Given the description of an element on the screen output the (x, y) to click on. 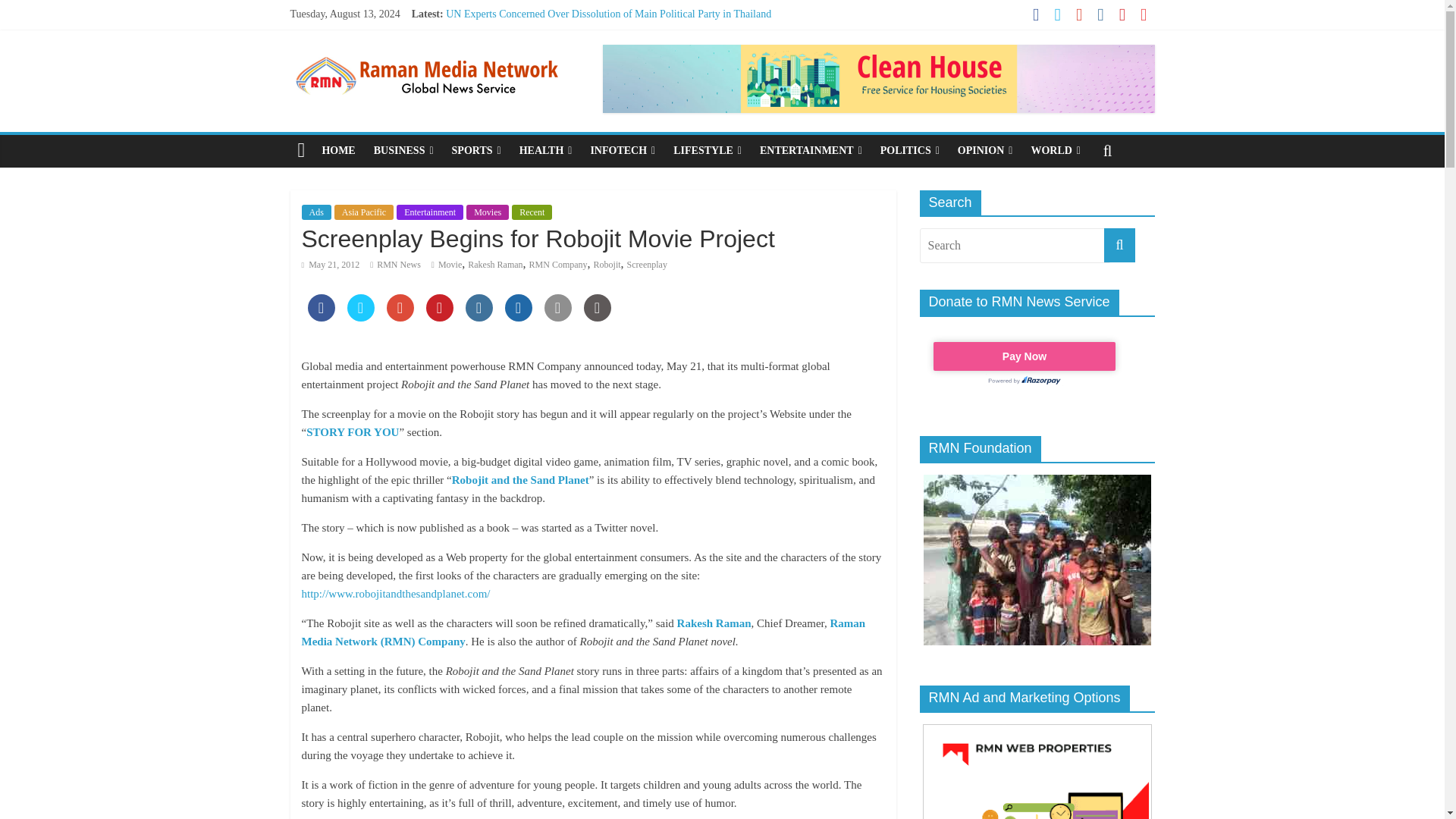
BUSINESS (403, 151)
RMN News (398, 264)
How to Be Happy and Get Peace of Mind: Watch Video (563, 30)
How to Be Happy and Get Peace of Mind: Watch Video (563, 30)
UN Expert Denounces Killing of Journalists in Gaza (557, 64)
LIFESTYLE (707, 151)
Manish Sisodia Gets Bail, Arvind Kejriwal to Stay in Jail (566, 81)
